Given the description of an element on the screen output the (x, y) to click on. 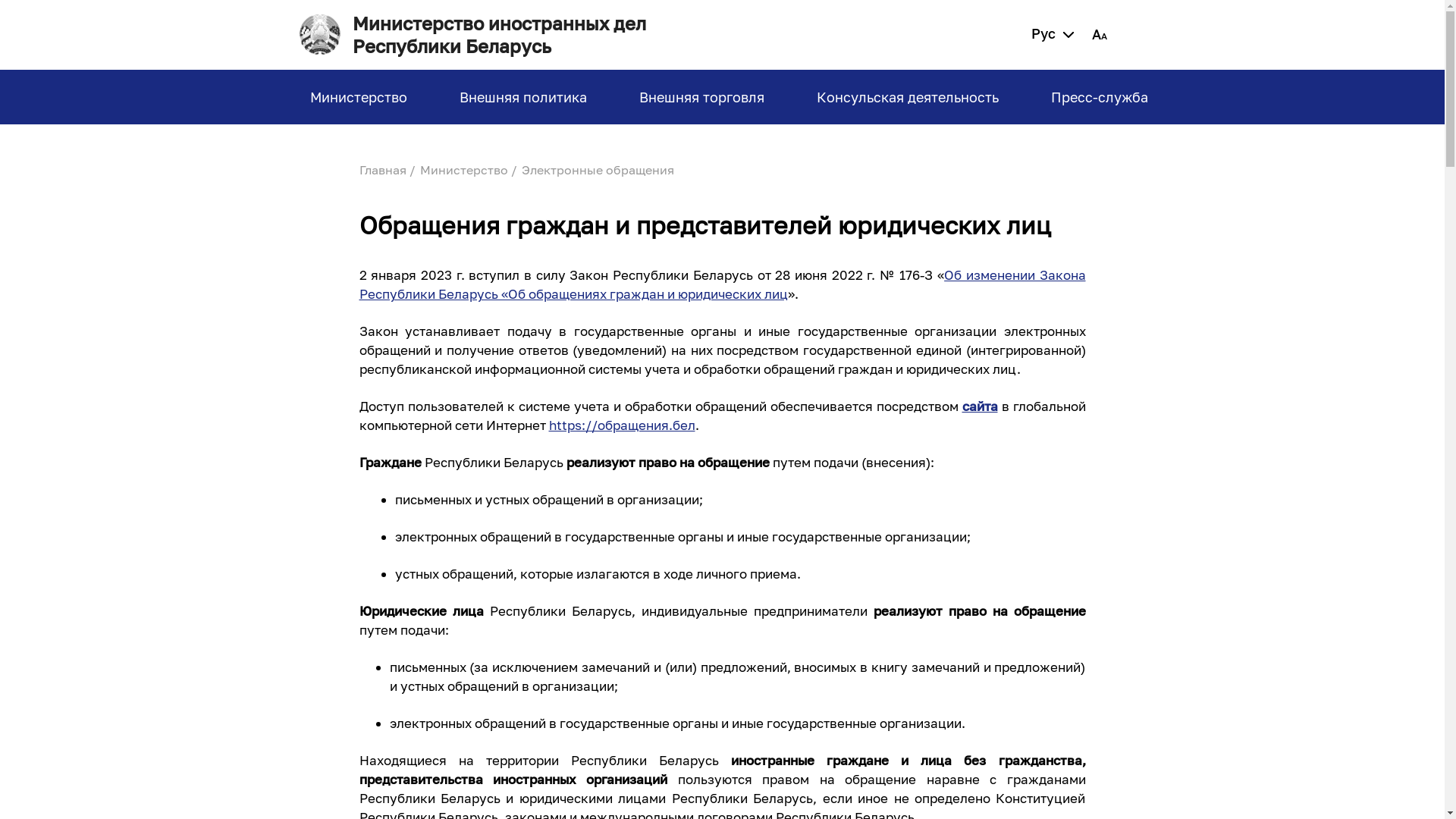
AA Element type: text (1099, 34)
